Given the description of an element on the screen output the (x, y) to click on. 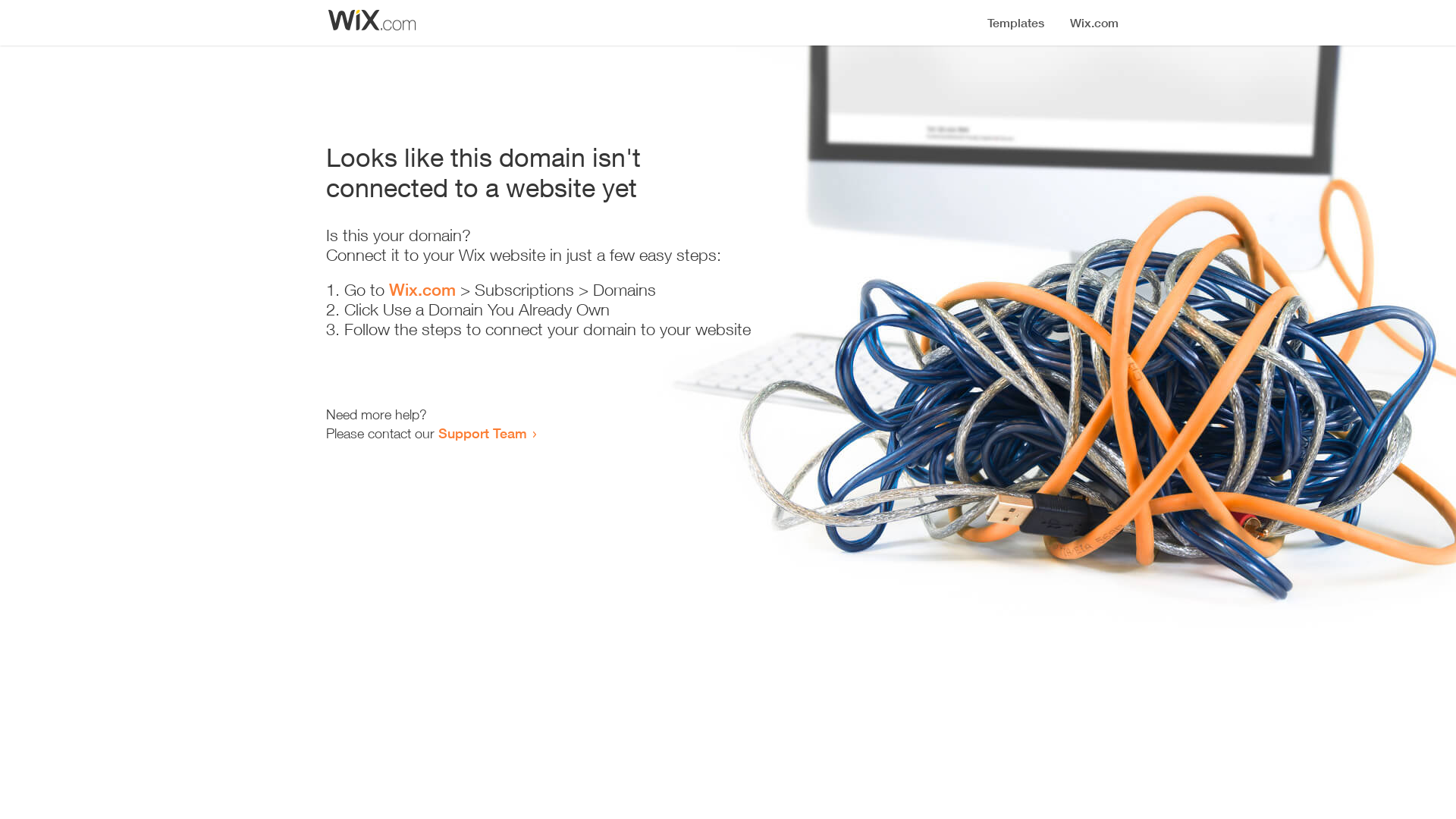
Support Team Element type: text (482, 432)
Wix.com Element type: text (422, 289)
